Given the description of an element on the screen output the (x, y) to click on. 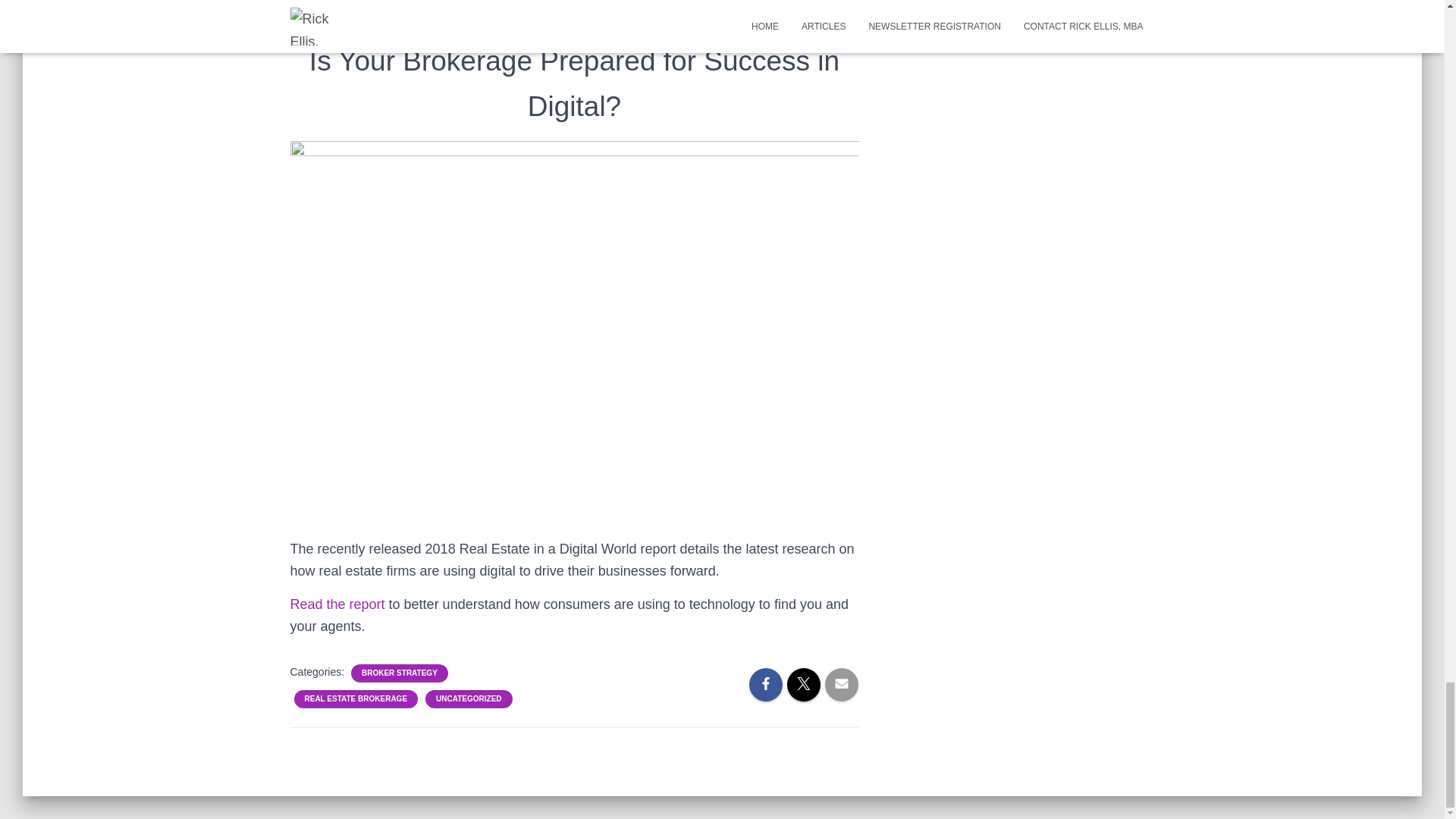
UNCATEGORIZED (467, 698)
Read the report (336, 604)
REAL ESTATE BROKERAGE (355, 698)
BROKER STRATEGY (399, 673)
